Given the description of an element on the screen output the (x, y) to click on. 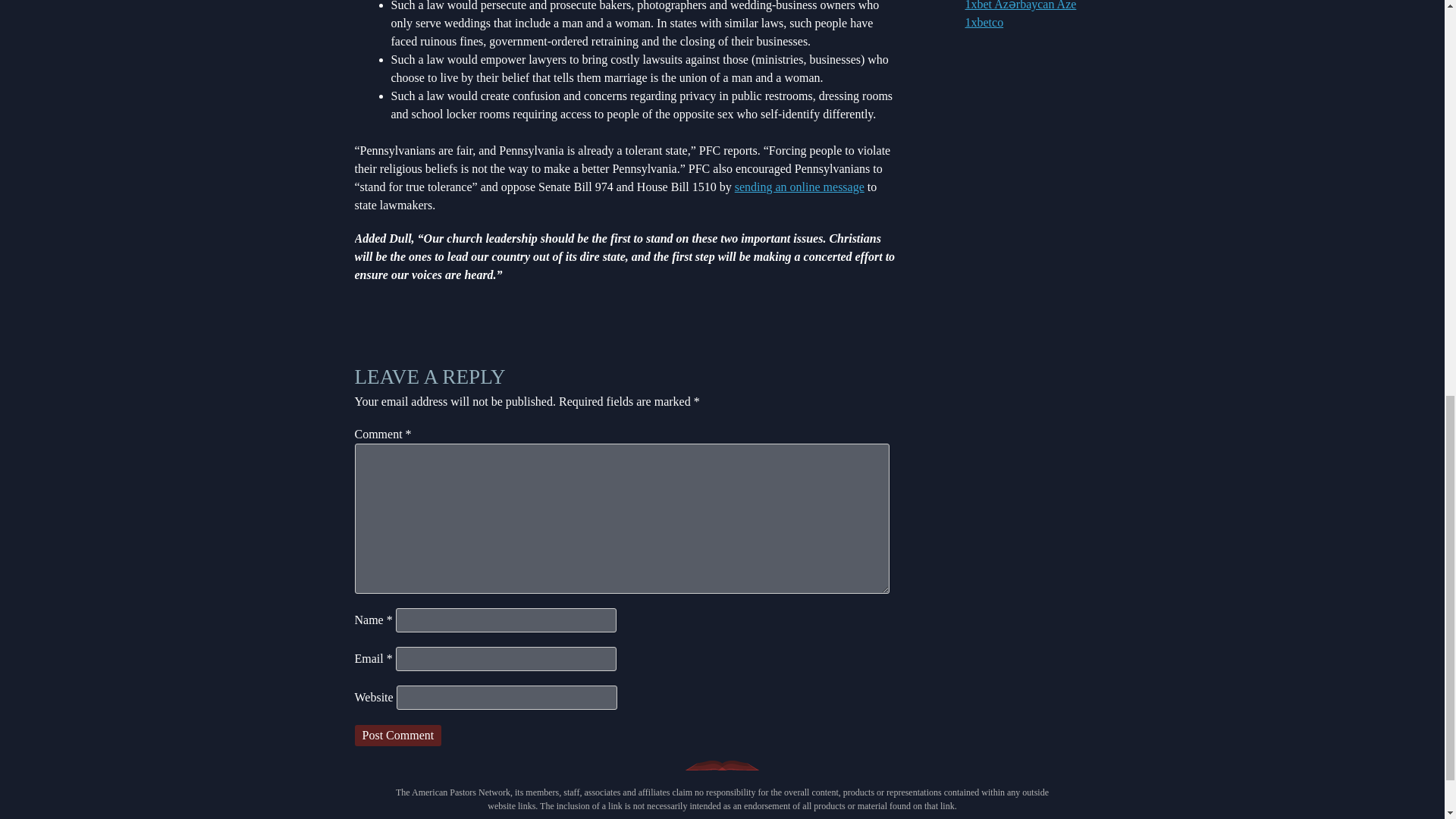
Post Comment (398, 735)
sending an online message (799, 186)
Post Comment (398, 735)
